Given the description of an element on the screen output the (x, y) to click on. 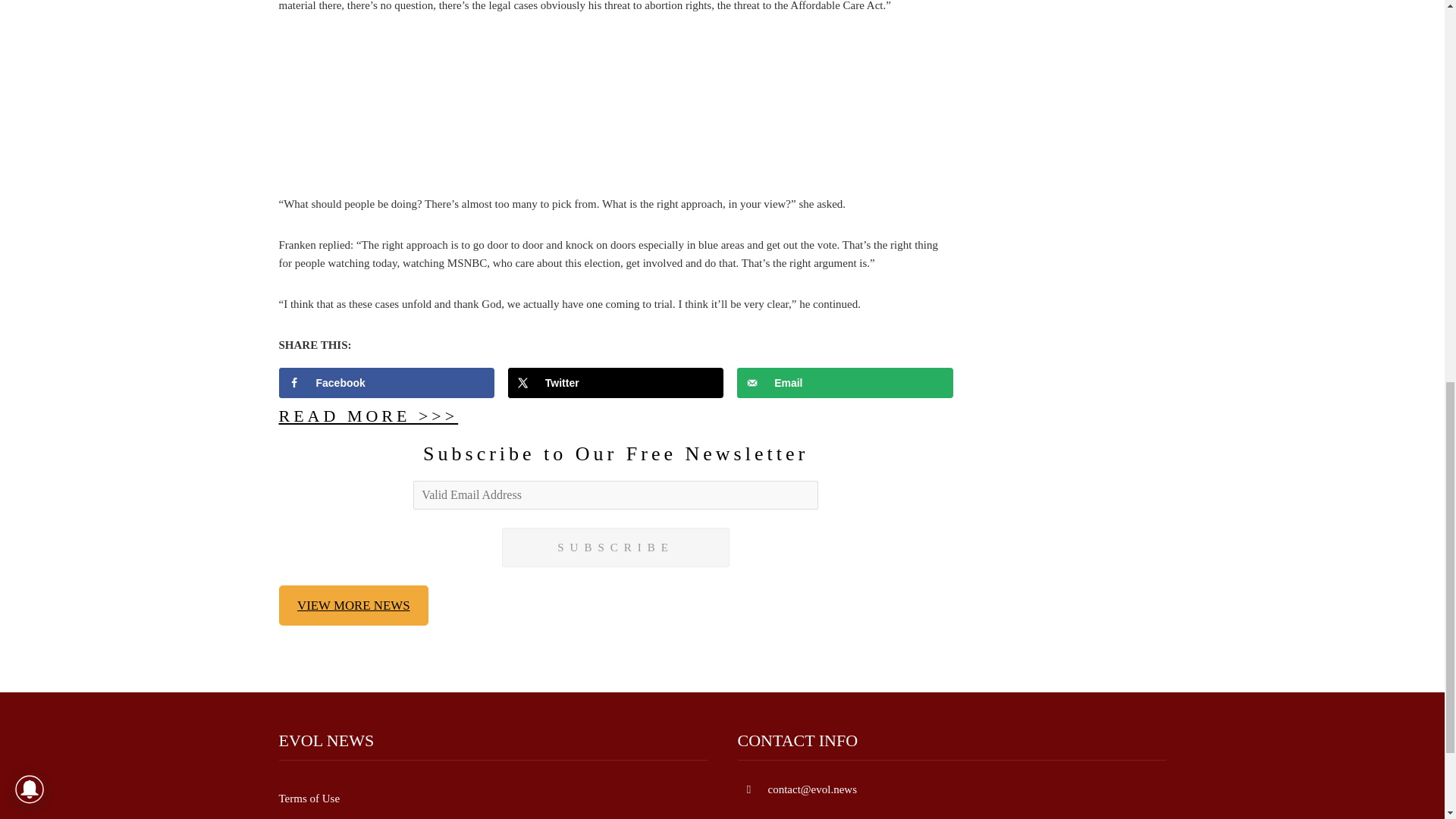
Send over email (844, 382)
Twitter (615, 382)
Facebook (387, 382)
Email (844, 382)
Terms of Use (309, 798)
Share on X (615, 382)
Share on Facebook (387, 382)
Advertisement (616, 112)
SUBSCRIBE (615, 547)
VIEW MORE NEWS (354, 605)
